Given the description of an element on the screen output the (x, y) to click on. 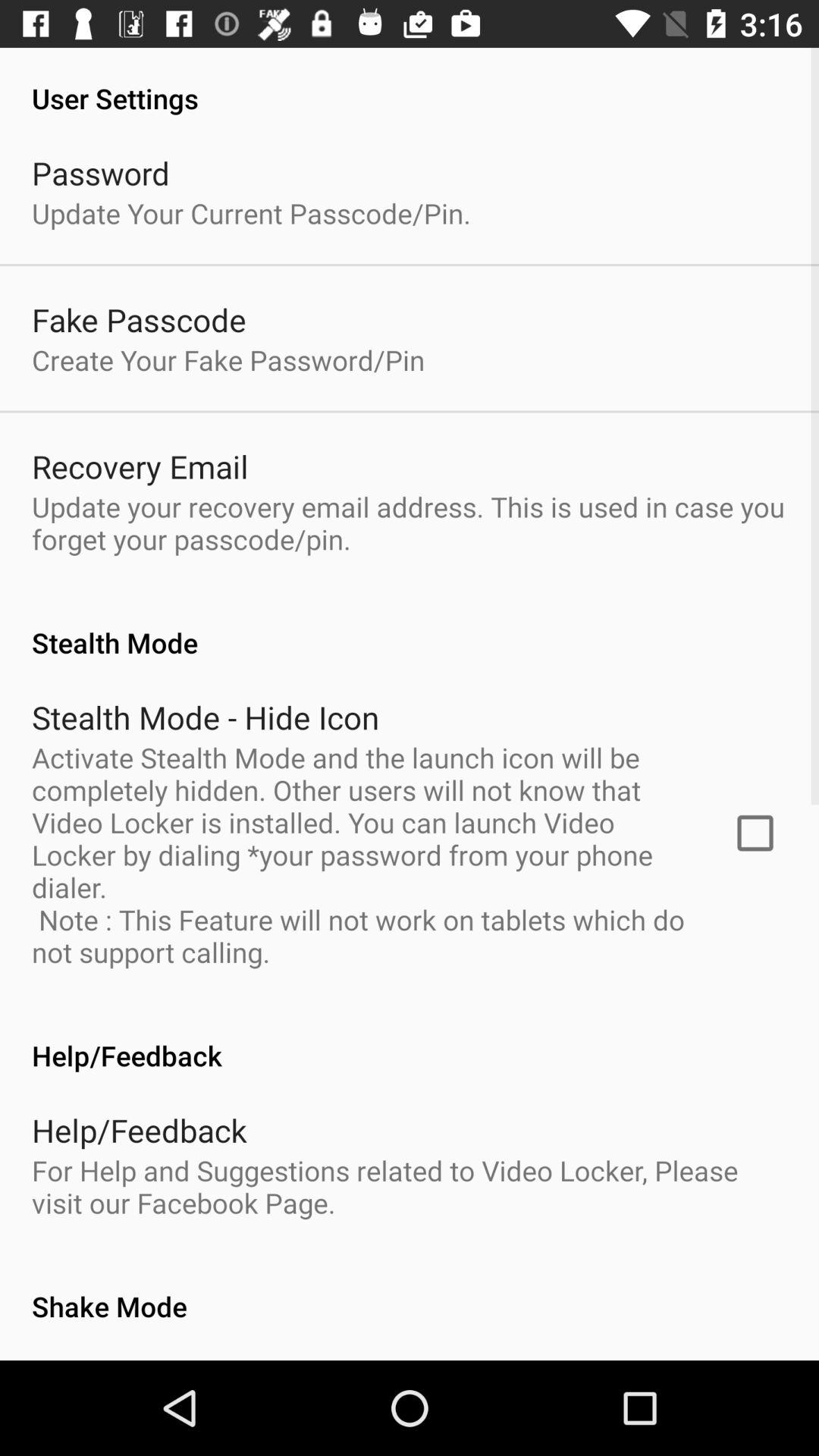
choose item above create your fake item (138, 319)
